Given the description of an element on the screen output the (x, y) to click on. 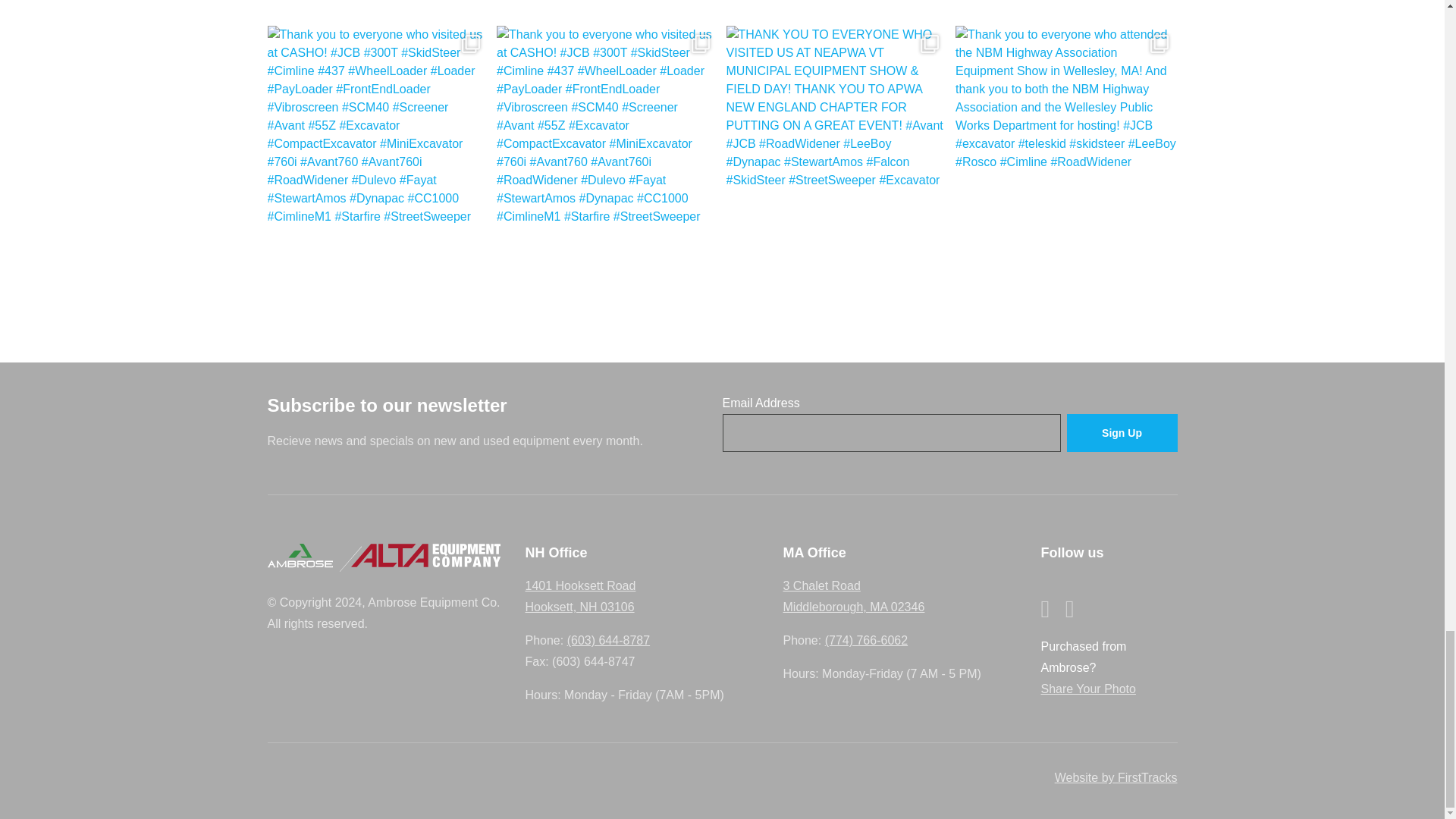
Ambrose logo (298, 555)
Sign Up (1120, 433)
Alta logo (425, 554)
